Given the description of an element on the screen output the (x, y) to click on. 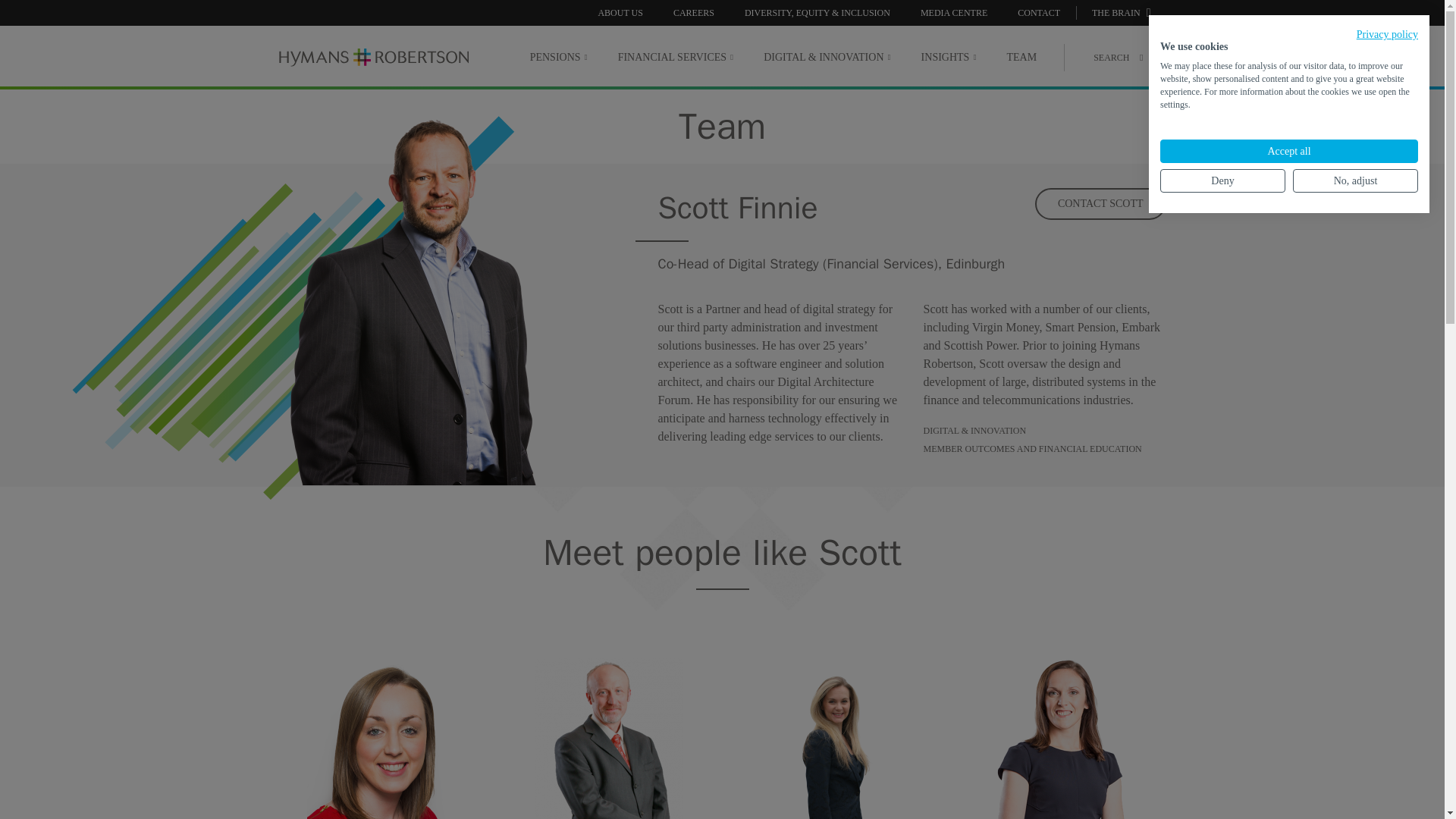
Accept all (1289, 150)
CAREERS (693, 12)
PENSIONS (558, 57)
MEDIA CENTRE (953, 12)
ABOUT US (619, 12)
No, adjust (1355, 180)
THE BRAIN (1121, 12)
Hymans Robertson (373, 57)
Deny (1222, 180)
Privacy policy (1387, 34)
CONTACT (1038, 12)
